Given the description of an element on the screen output the (x, y) to click on. 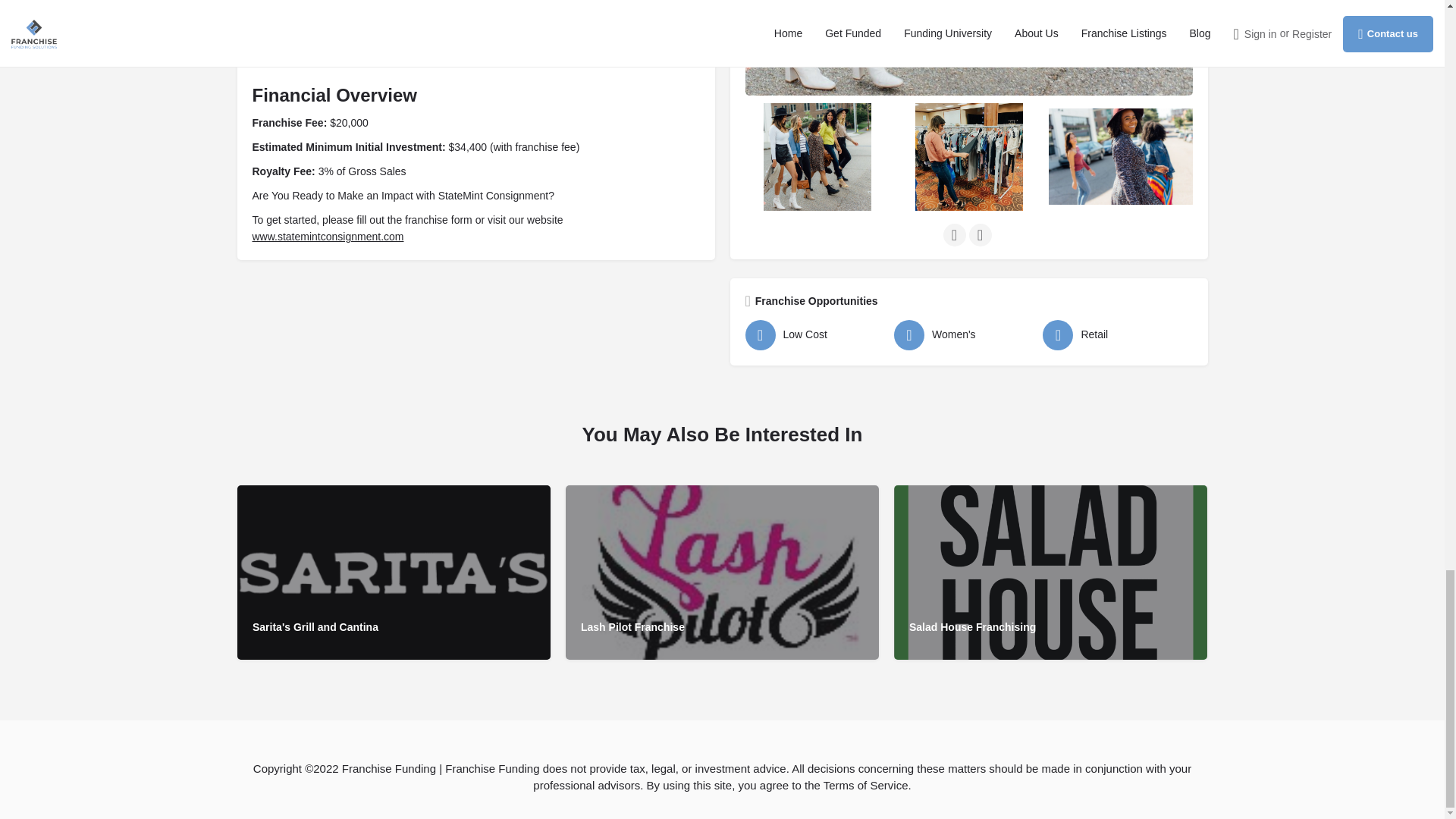
www.statemintconsignment.com (327, 236)
